Given the description of an element on the screen output the (x, y) to click on. 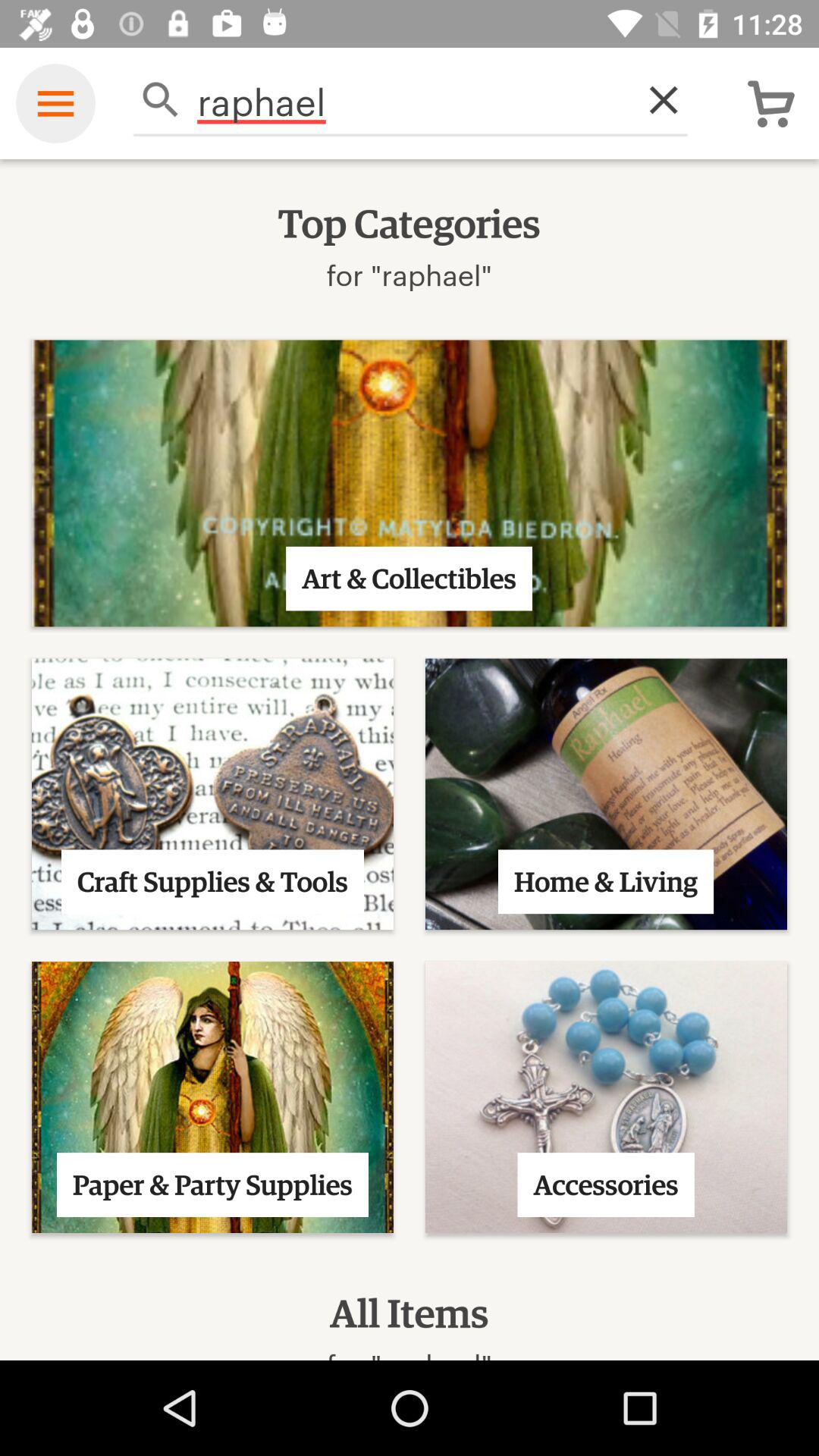
press the icon next to the raphael icon (655, 99)
